Given the description of an element on the screen output the (x, y) to click on. 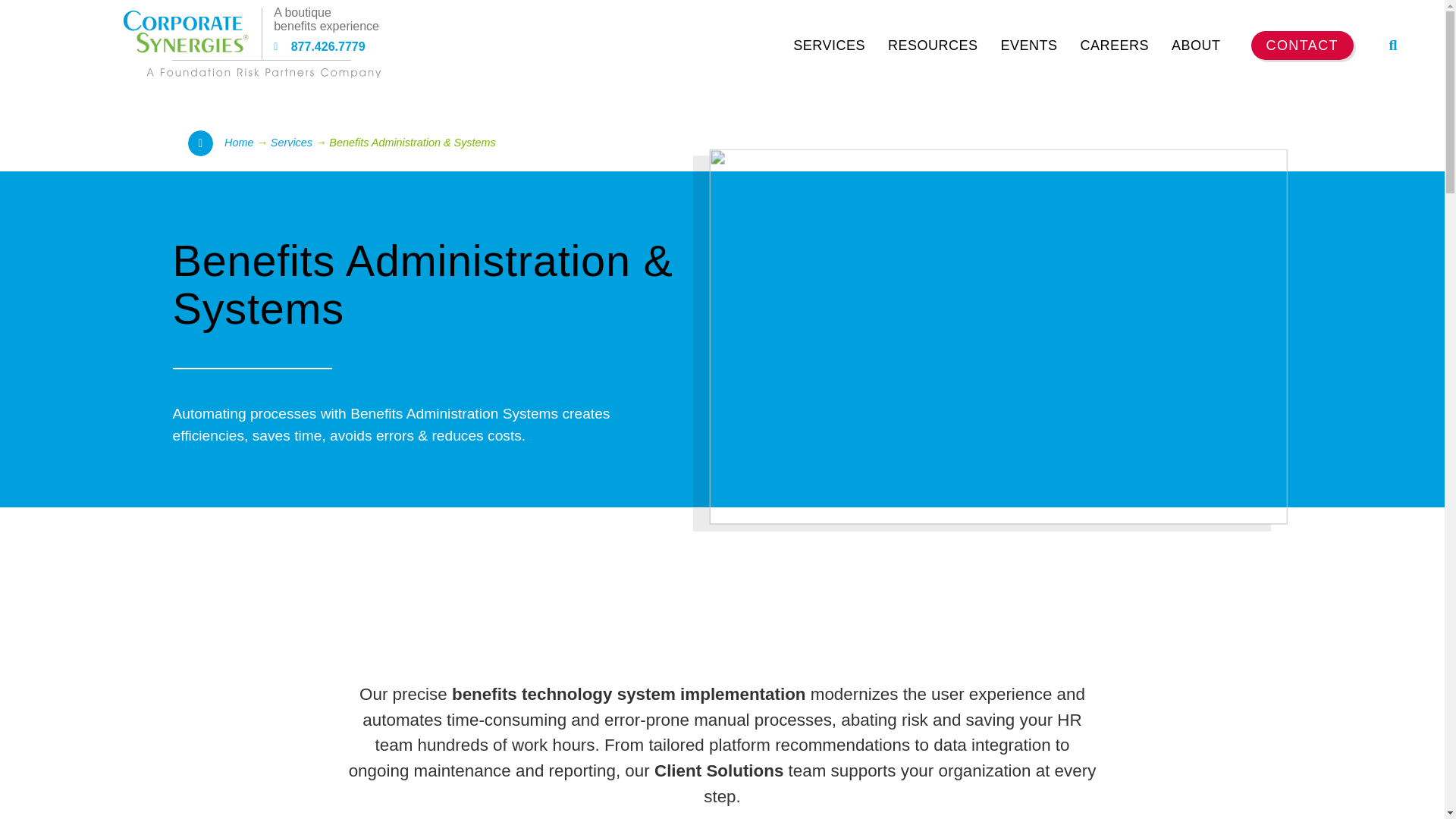
877.426.7779 (378, 46)
CAREERS (1114, 45)
SERVICES (828, 45)
CONTACT (1302, 45)
EVENTS (1028, 45)
RESOURCES (933, 45)
ABOUT (1195, 45)
